Given the description of an element on the screen output the (x, y) to click on. 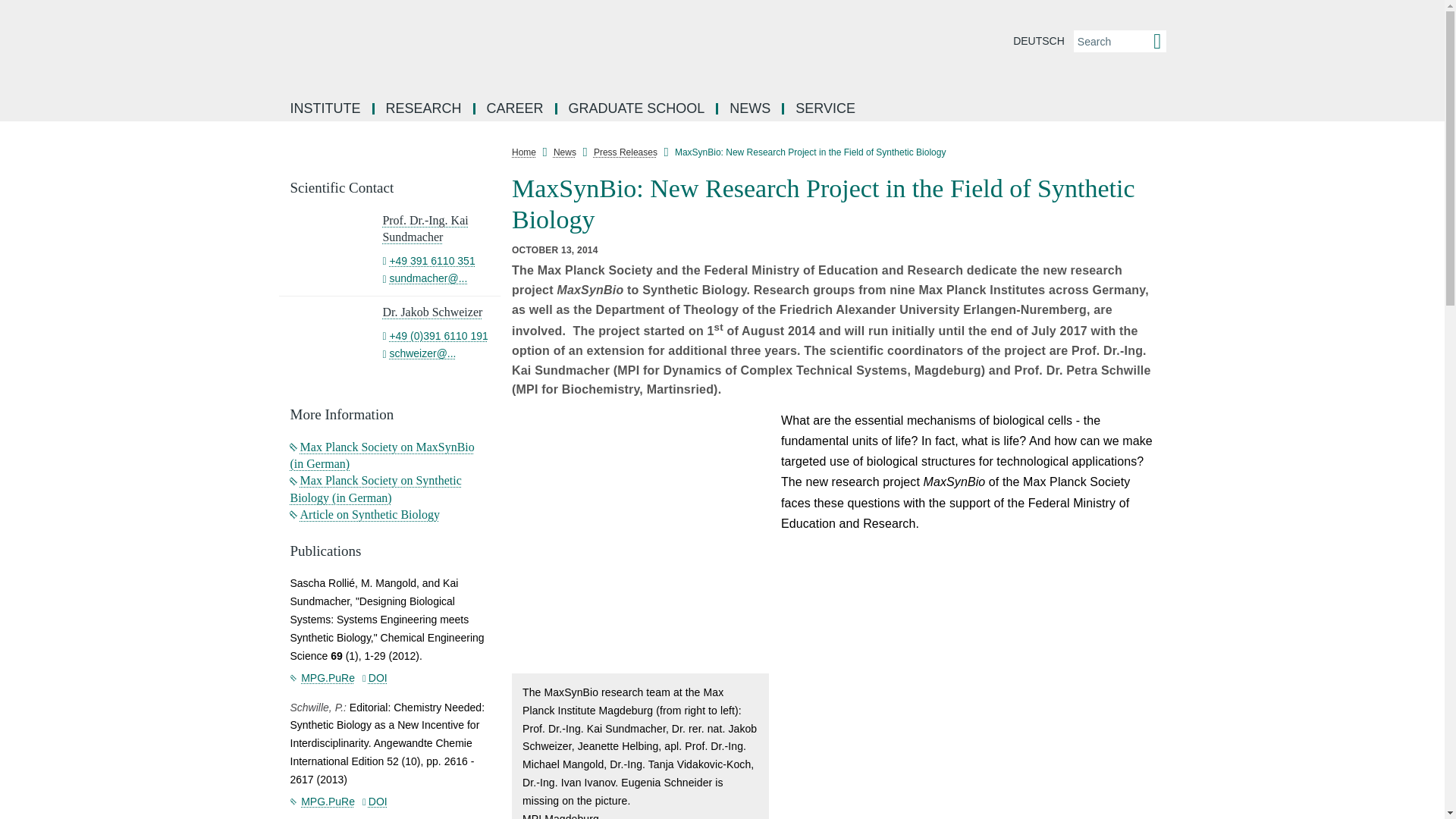
RESEARCH (425, 108)
Twitter (1177, 287)
More information about Prof. Dr.-Ing. Kai Sundmacher (424, 228)
DEUTSCH (1038, 41)
More information about Dr. Jakob Schweizer (431, 311)
opens zoom view (640, 541)
Print (1177, 389)
Xing (1177, 321)
INSTITUTE (326, 108)
Article on Synthetic Biology (364, 513)
